Given the description of an element on the screen output the (x, y) to click on. 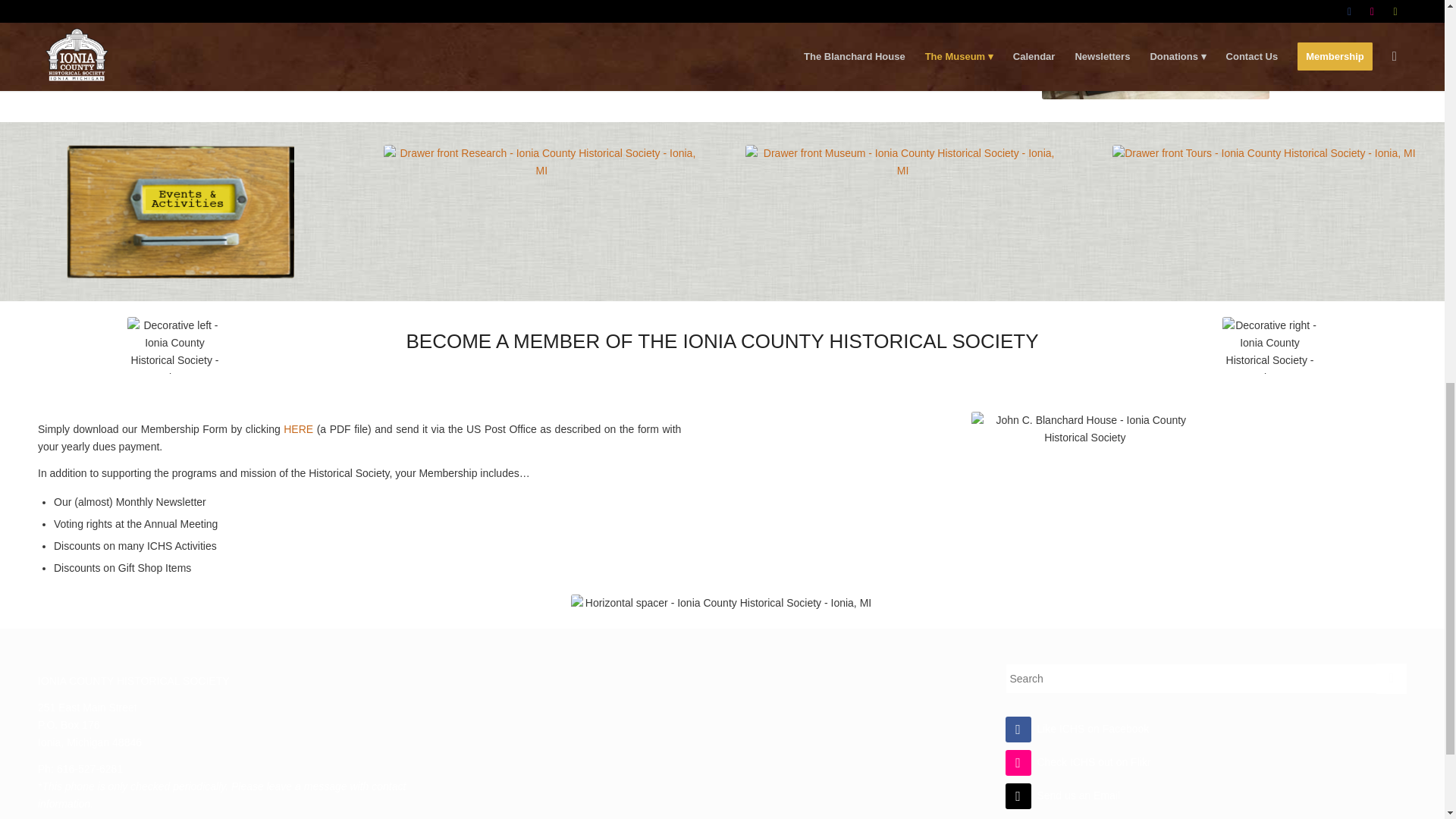
Check ICHS out on Flikr (1078, 761)
Send us an Email (1063, 795)
HERE (298, 428)
Like ICHS on Facebook (1078, 728)
